Given the description of an element on the screen output the (x, y) to click on. 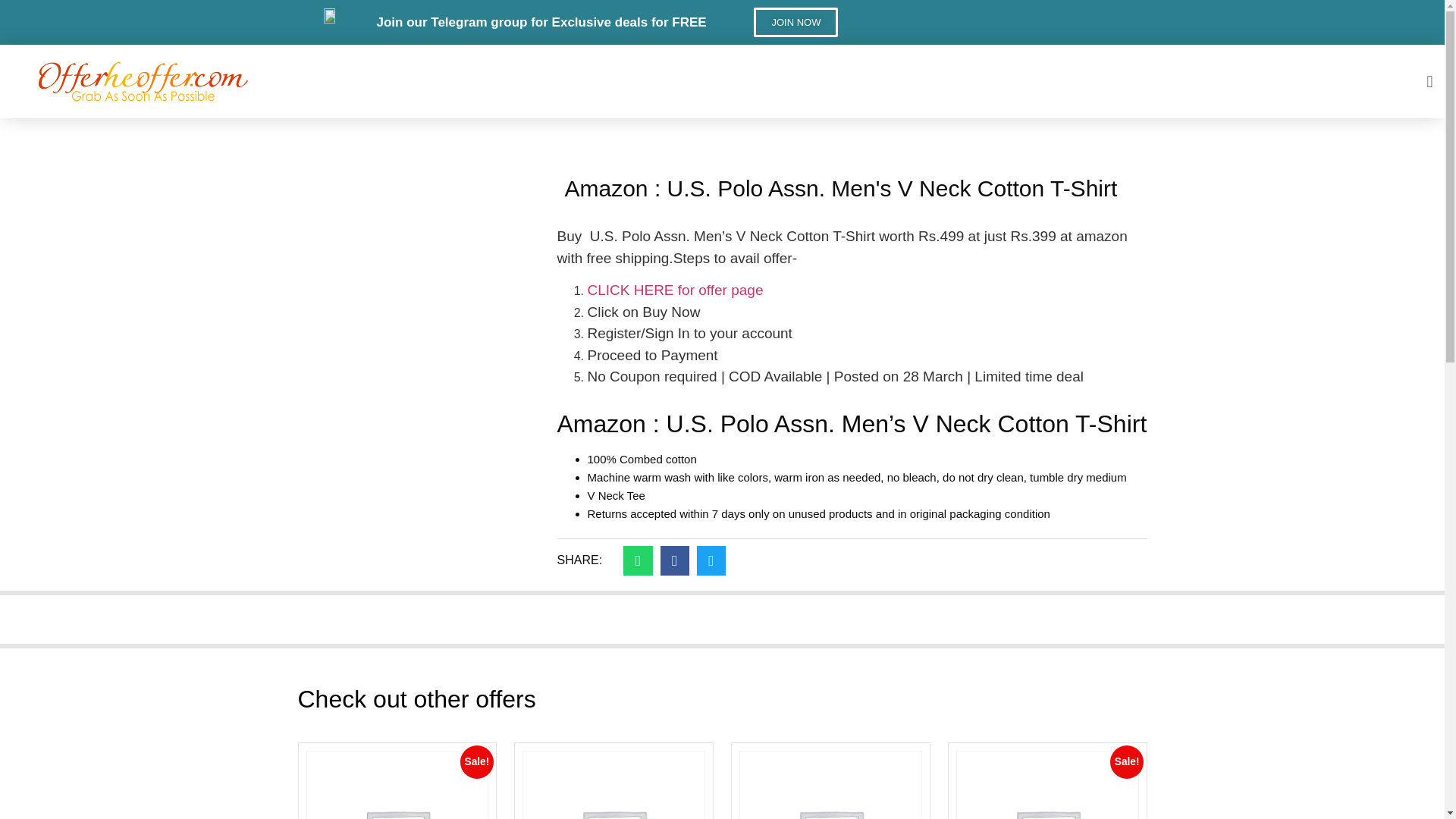
JOIN NOW (796, 21)
